Given the description of an element on the screen output the (x, y) to click on. 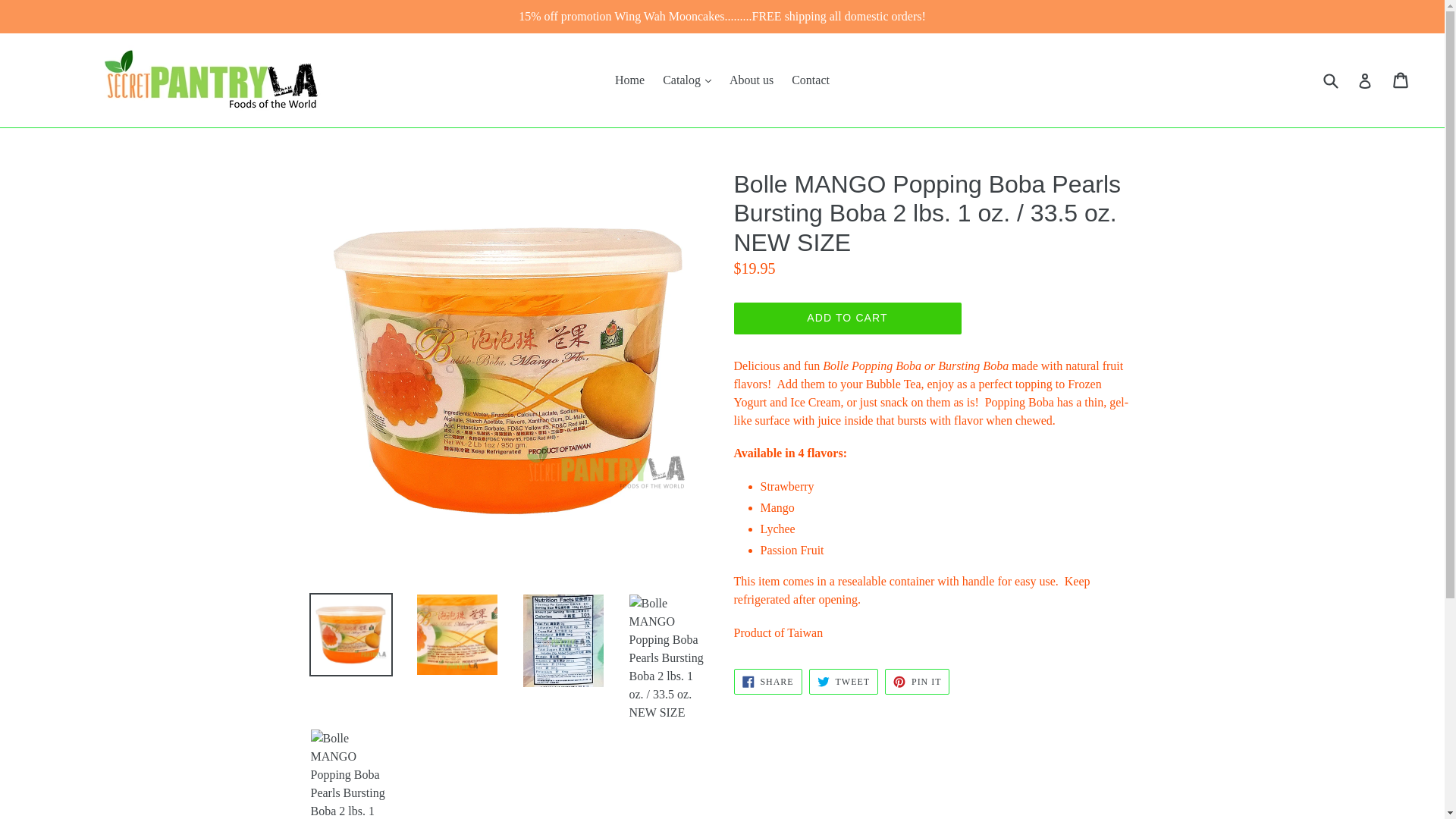
Home (629, 79)
Share on Facebook (767, 681)
About us (751, 79)
Pin on Pinterest (917, 681)
Contact (810, 79)
Tweet on Twitter (843, 681)
